Given the description of an element on the screen output the (x, y) to click on. 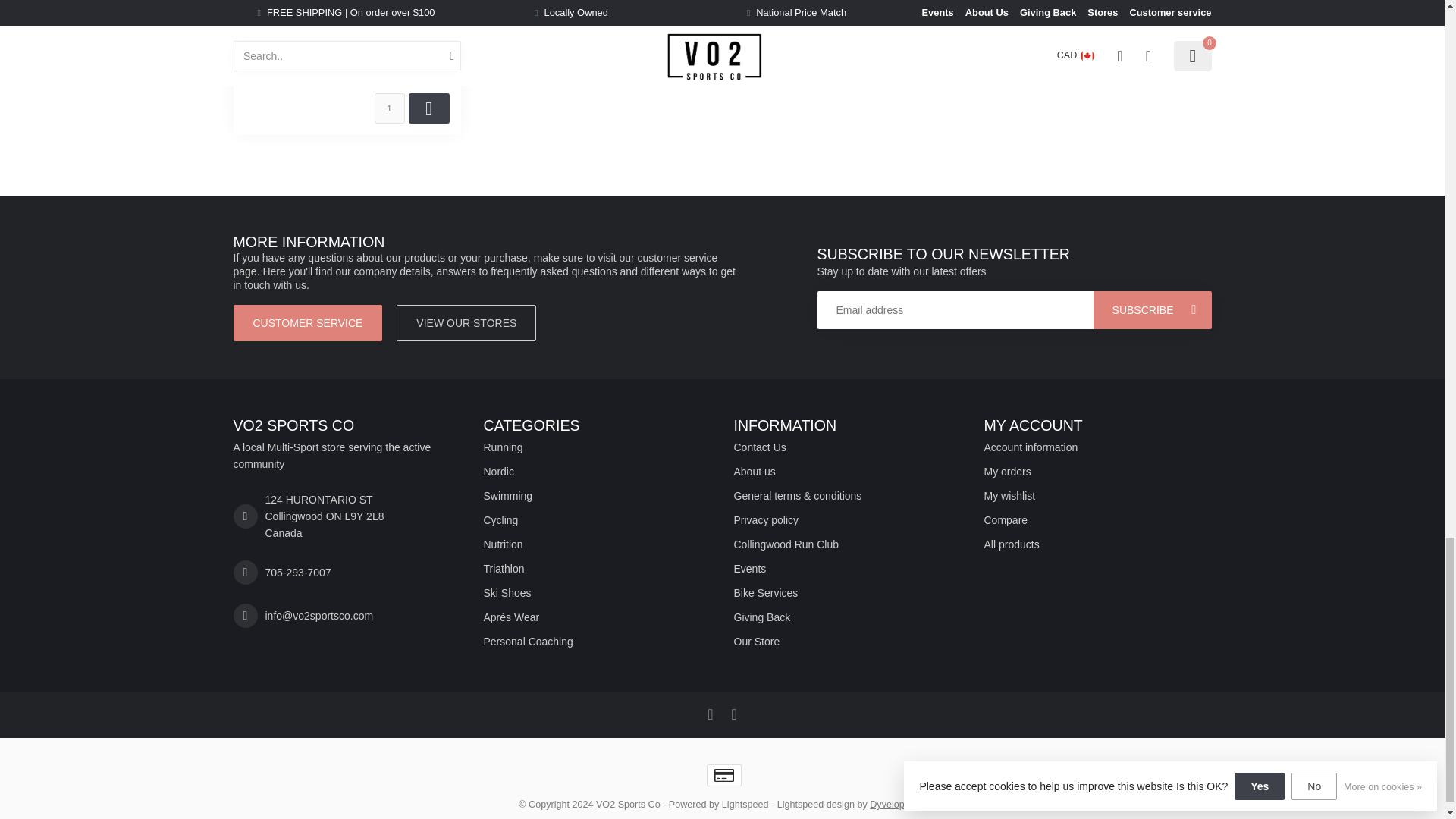
Events (846, 568)
Bike Services (846, 592)
About us (846, 471)
Contact Us (846, 446)
Privacy policy (846, 519)
Triswim Triswim Conditioner (346, 15)
1 (389, 108)
Collingwood Run Club (846, 544)
